Given the description of an element on the screen output the (x, y) to click on. 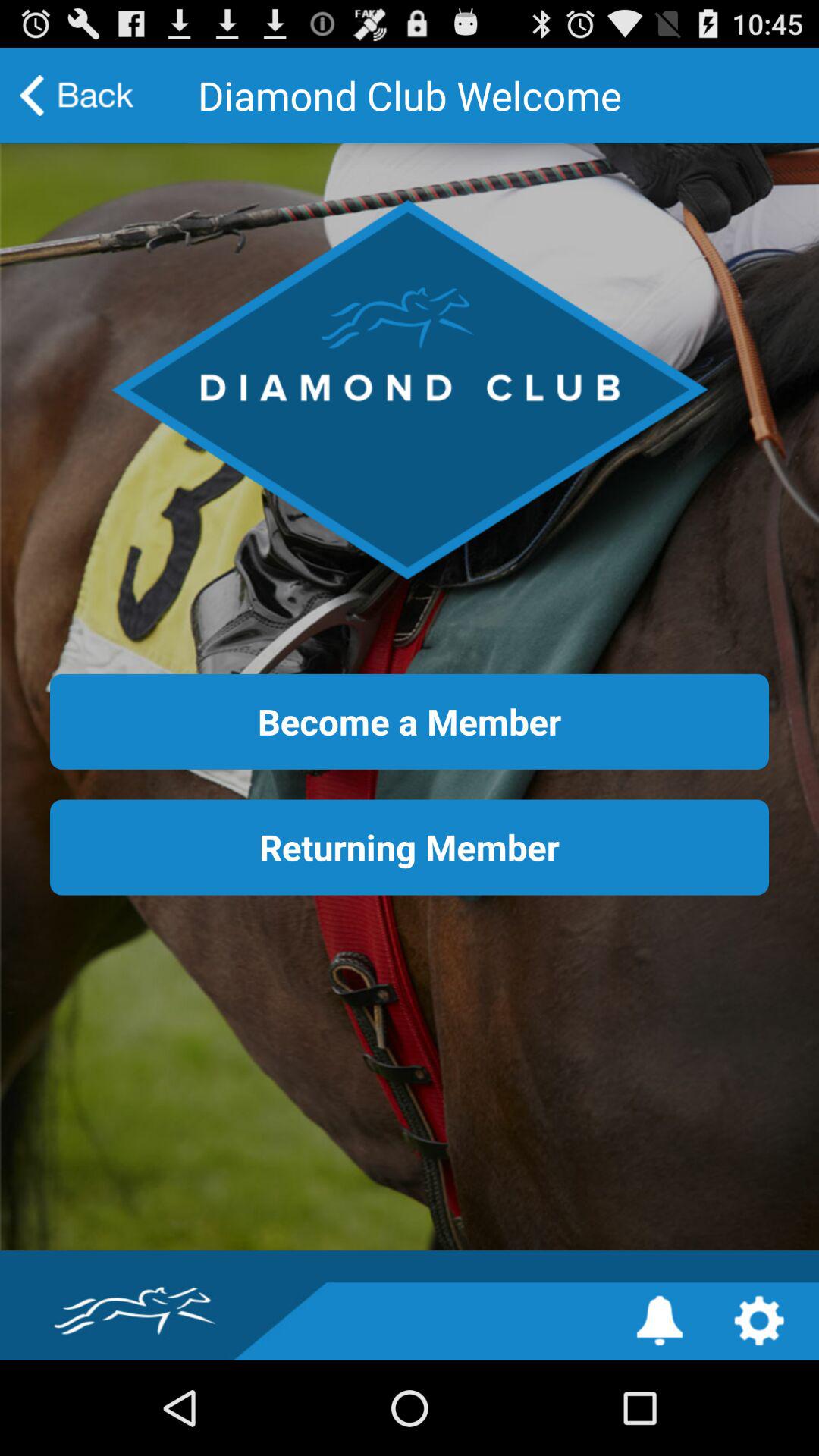
get notifications (659, 1320)
